Given the description of an element on the screen output the (x, y) to click on. 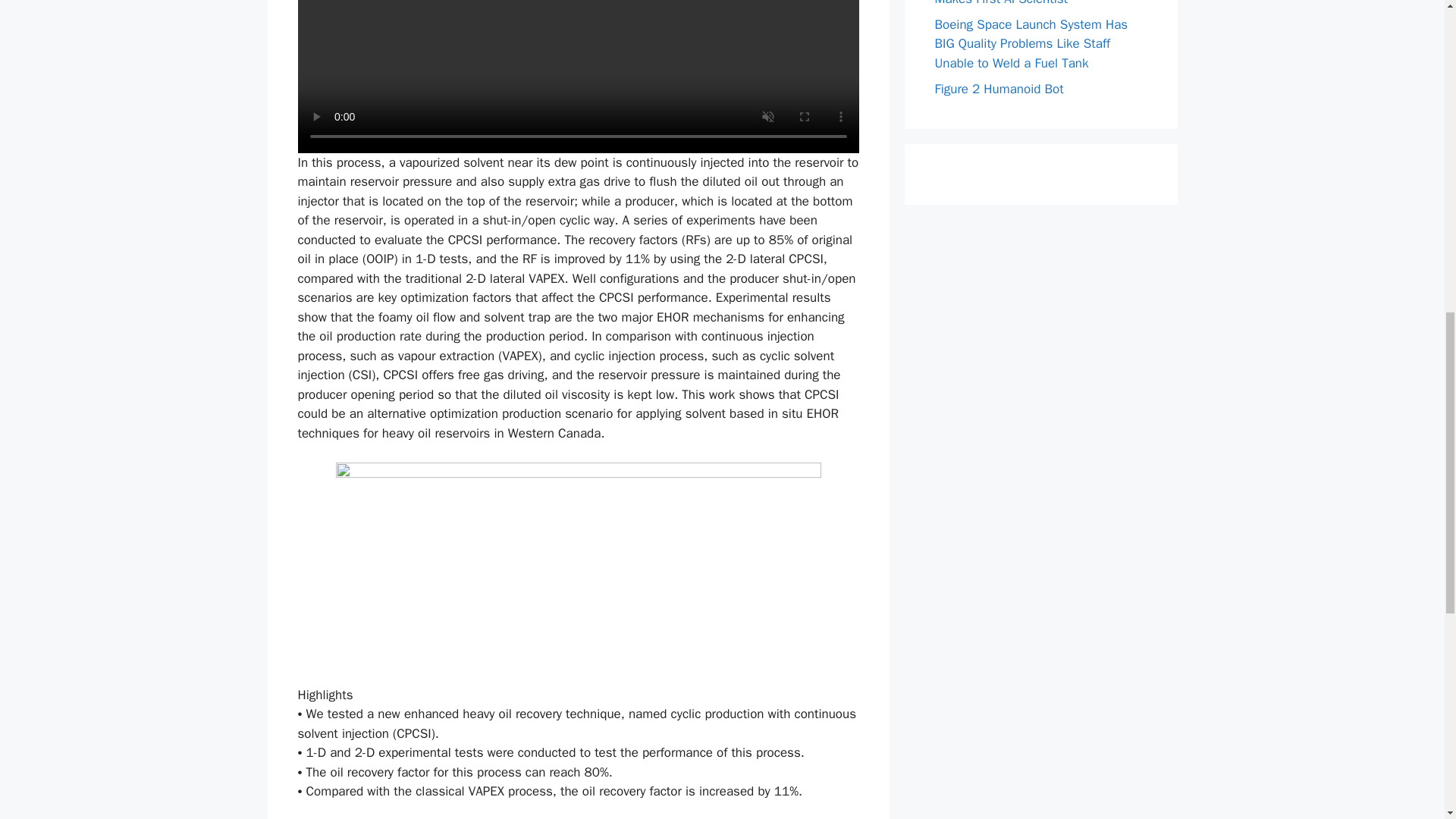
Figure 2 Humanoid Bot (998, 89)
Billion Dollar Startup Sakana AI Makes First AI Scientist (1022, 3)
